Given the description of an element on the screen output the (x, y) to click on. 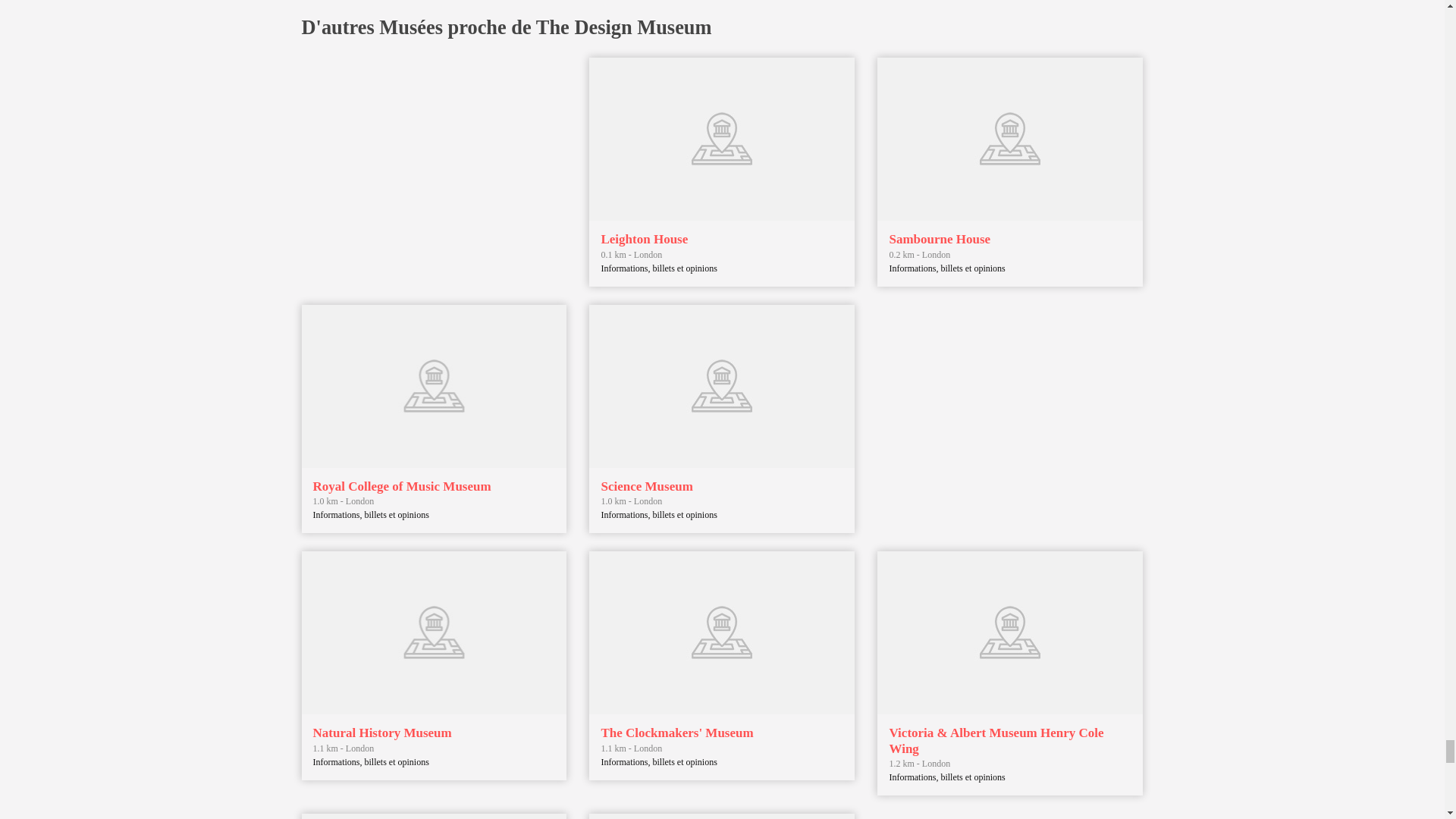
Leighton House (643, 238)
The Clockmakers' Museum (675, 732)
Science Museum (646, 486)
Natural History Museum (382, 732)
Royal College of Music Museum (401, 486)
Sambourne House (939, 238)
